Given the description of an element on the screen output the (x, y) to click on. 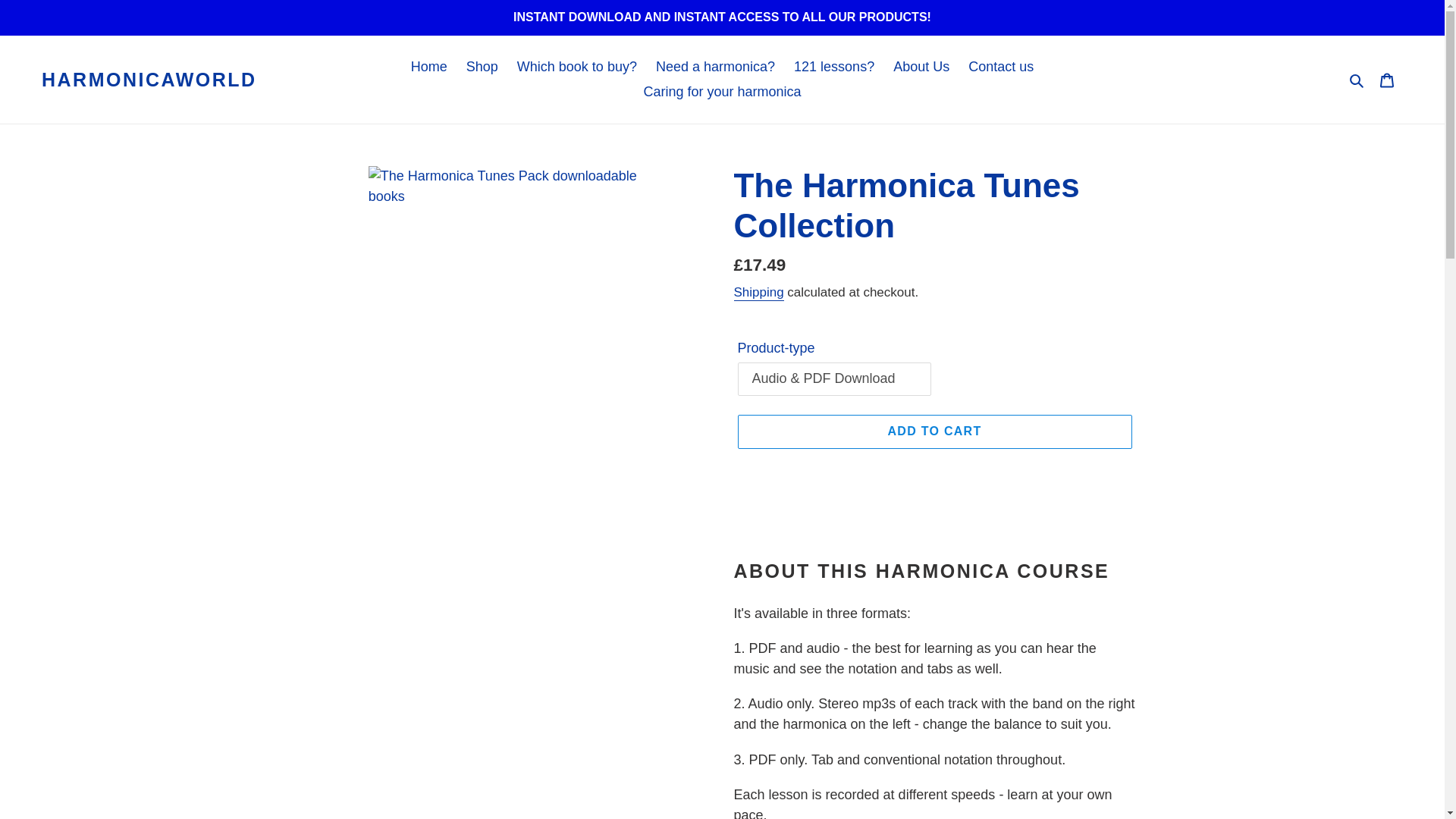
Home (428, 66)
About Us (920, 66)
Which book to buy? (577, 66)
ADD TO CART (933, 430)
Shipping (758, 293)
Search (1357, 78)
Caring for your harmonica (721, 91)
HARMONICAWORLD (149, 78)
121 lessons? (834, 66)
Need a harmonica? (715, 66)
Contact us (1000, 66)
Cart (1387, 79)
Shop (481, 66)
